Given the description of an element on the screen output the (x, y) to click on. 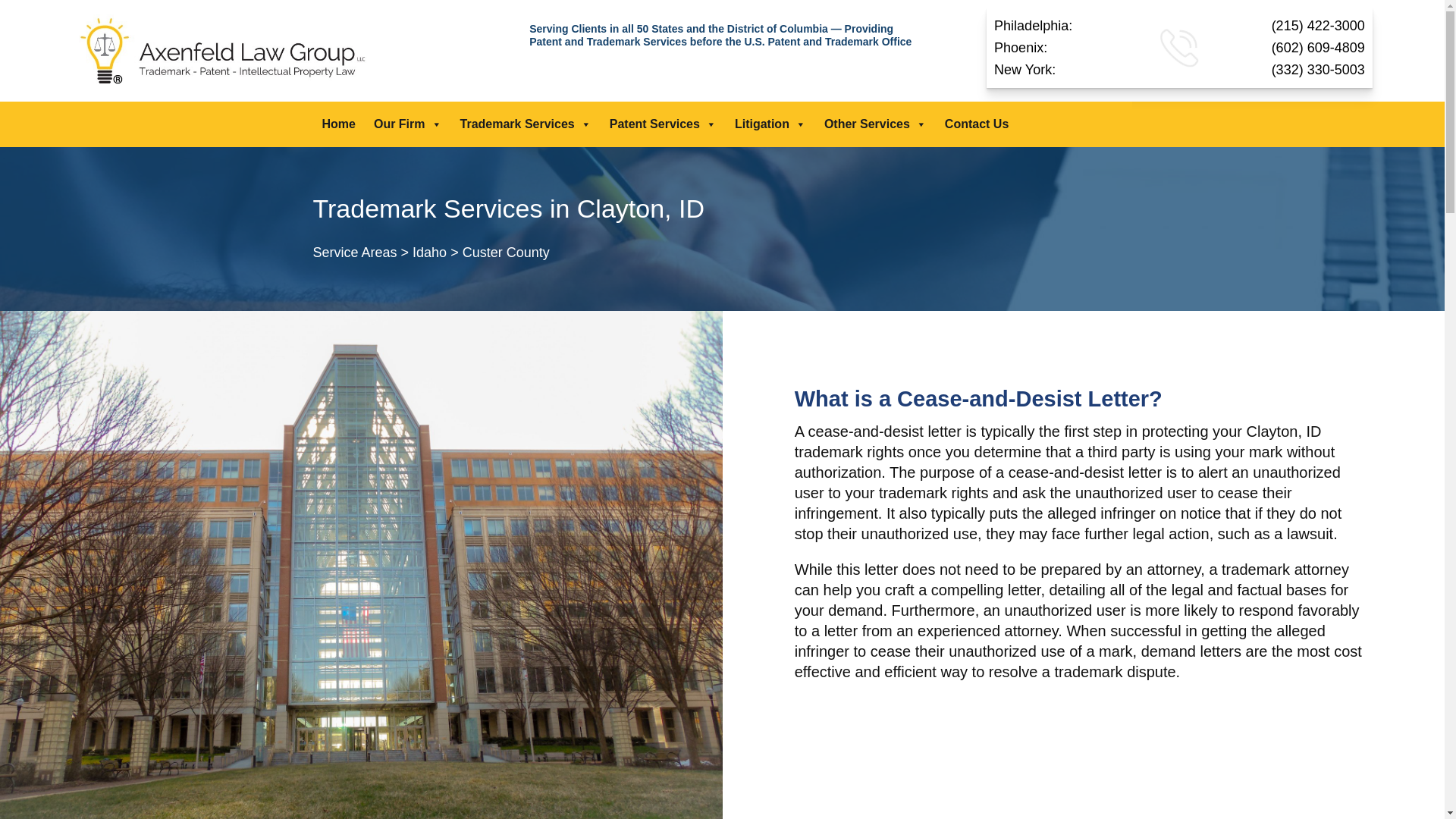
Our Firm (408, 124)
Trademark Services (525, 124)
Patent Services (662, 124)
Litigation (770, 124)
Home (338, 124)
